Given the description of an element on the screen output the (x, y) to click on. 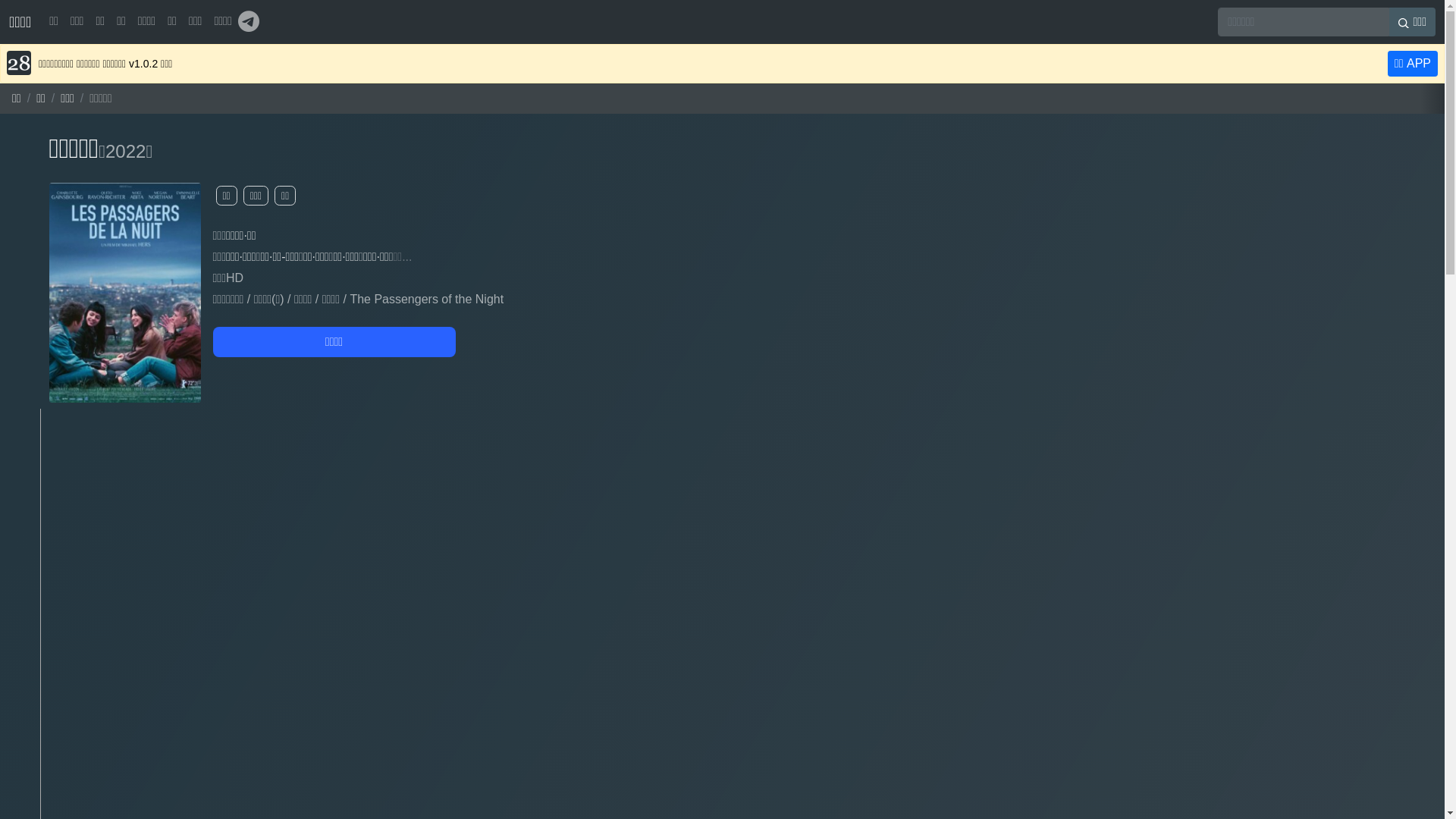
2022 Element type: text (125, 151)
